Given the description of an element on the screen output the (x, y) to click on. 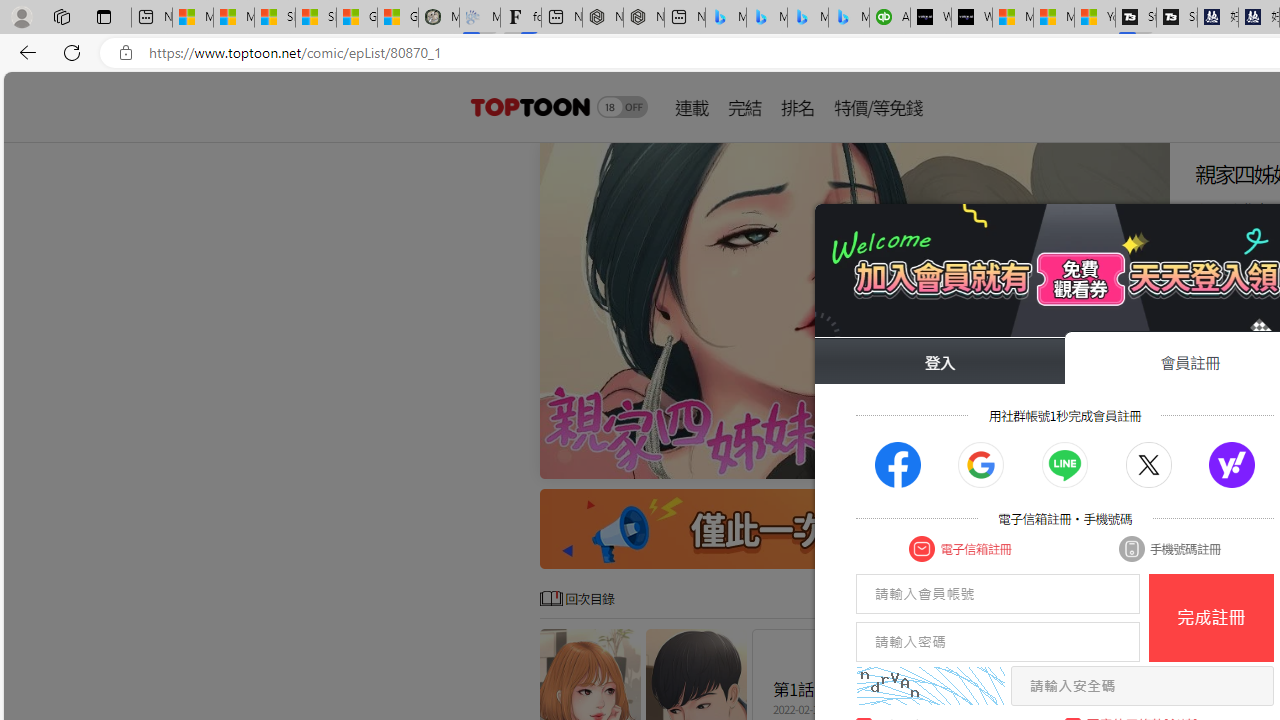
What's the best AI voice generator? - voice.ai (971, 17)
Class:  switch_18mode actionAdultBtn (621, 106)
Class: swiper-slide (854, 310)
Gilma and Hector both pose tropical trouble for Hawaii (397, 17)
Microsoft Bing Travel - Shangri-La Hotel Bangkok (849, 17)
Streaming Coverage | T3 (1135, 17)
